Given the description of an element on the screen output the (x, y) to click on. 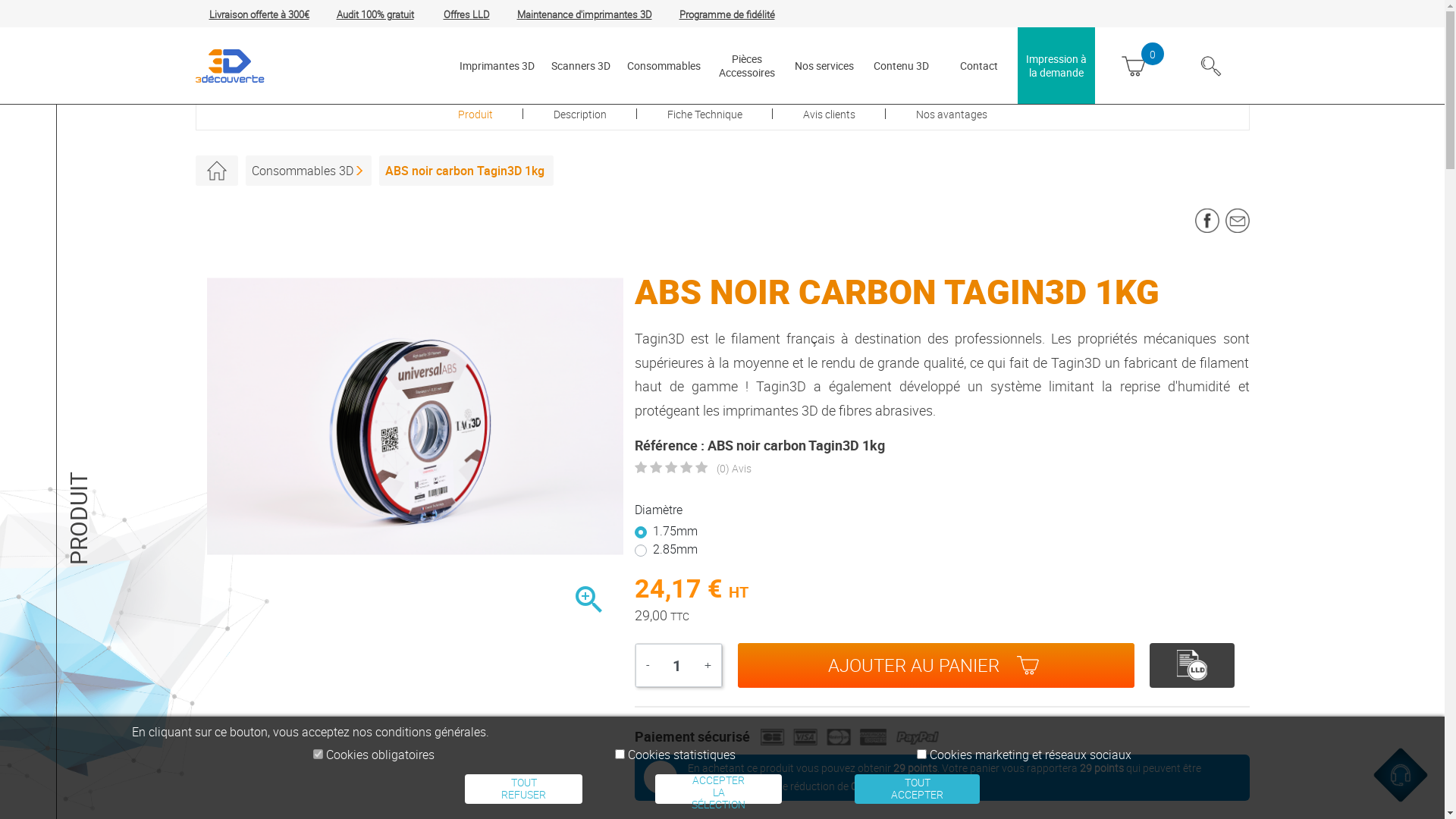
Consommables 3D Element type: text (306, 170)
Nos services Element type: text (823, 65)
TOUT REFUSER Element type: text (523, 788)
0 Element type: hover (701, 467)
Nos avantages Element type: text (951, 114)
Offres LLD Element type: text (465, 14)
0 Element type: hover (686, 467)
Imprimantes 3D Element type: text (496, 65)
Scanners 3D Element type: text (579, 65)
Avis clients Element type: text (827, 114)
0 Element type: hover (671, 467)
AJOUTER AU PANIER Element type: text (935, 665)
Audit 100% gratuit Element type: text (375, 14)
- Element type: text (647, 665)
Produit Element type: text (475, 114)
+ Element type: text (707, 665)
Maintenance d'imprimantes 3D Element type: text (584, 14)
Contenu 3D Element type: text (901, 65)
Fiche Technique Element type: text (704, 114)
Description Element type: text (580, 114)
TOUT ACCEPTER Element type: text (916, 788)
ABS noir carbon Tagin3D Element type: hover (414, 416)
Contact Element type: text (978, 65)
0 Element type: hover (640, 467)
0 Element type: hover (655, 467)
Consommables Element type: text (662, 65)
